Given the description of an element on the screen output the (x, y) to click on. 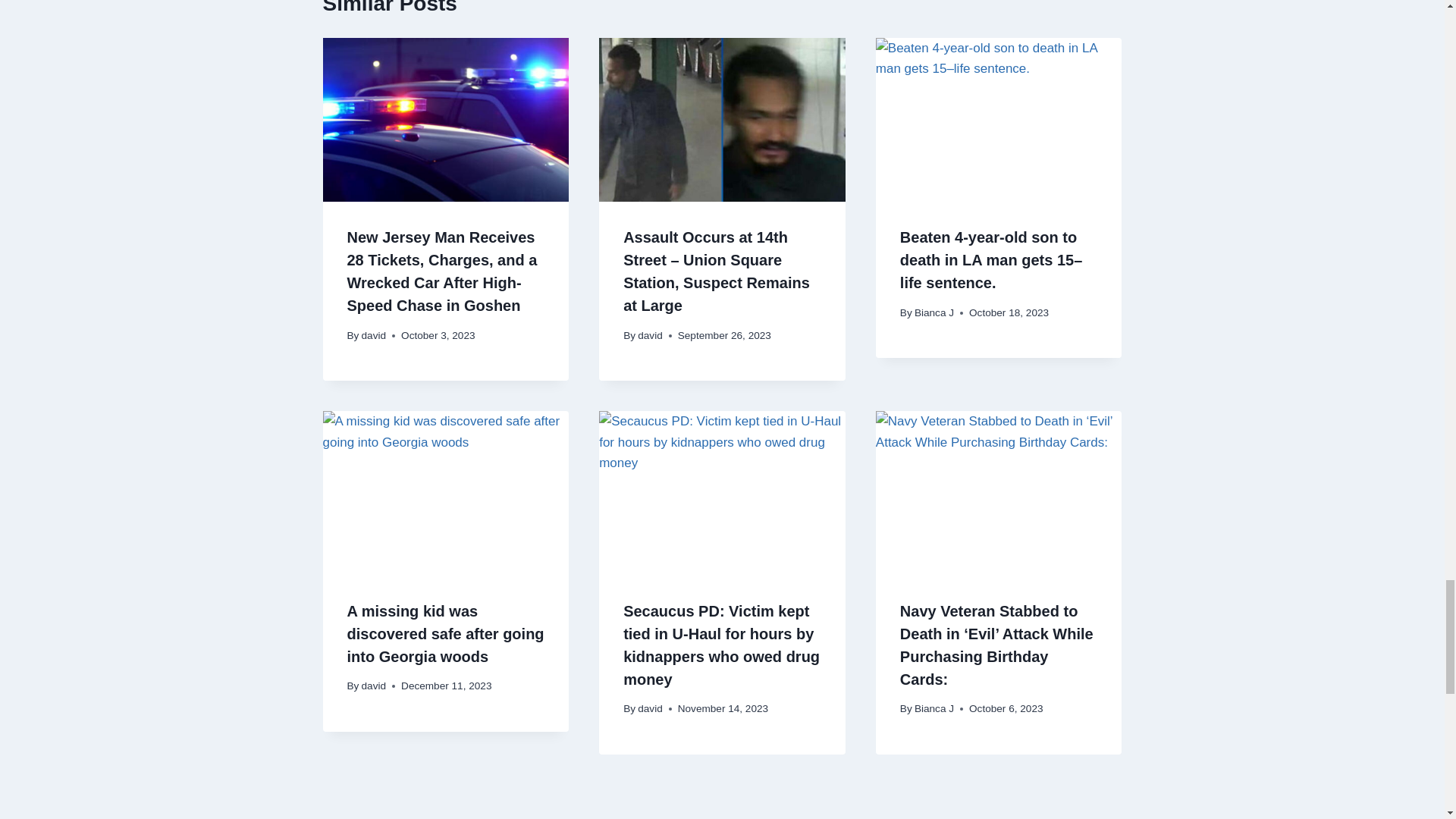
Bianca J (933, 312)
david (374, 335)
david (649, 335)
david (374, 685)
